Given the description of an element on the screen output the (x, y) to click on. 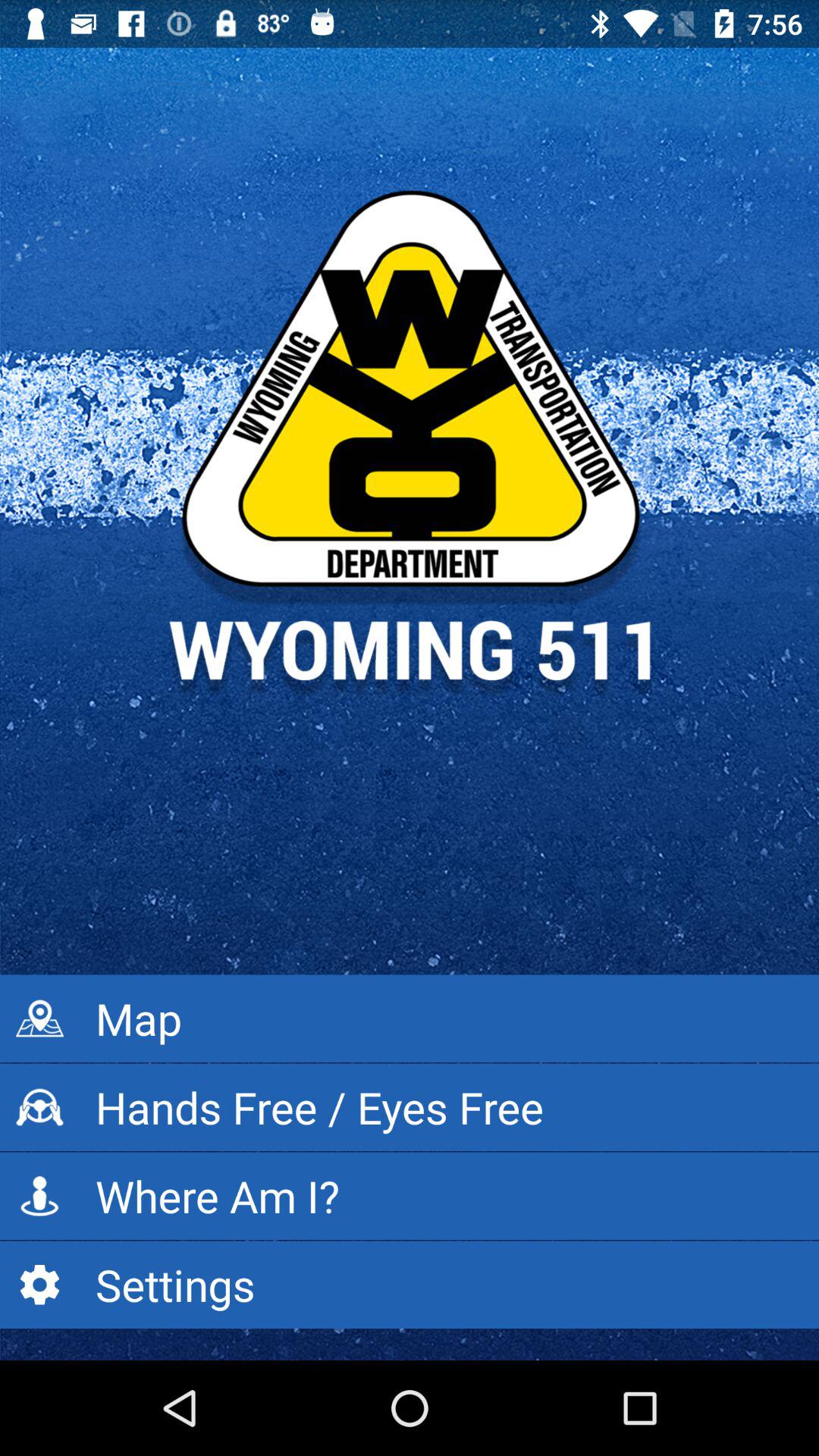
turn off the hands free eyes (409, 1107)
